Given the description of an element on the screen output the (x, y) to click on. 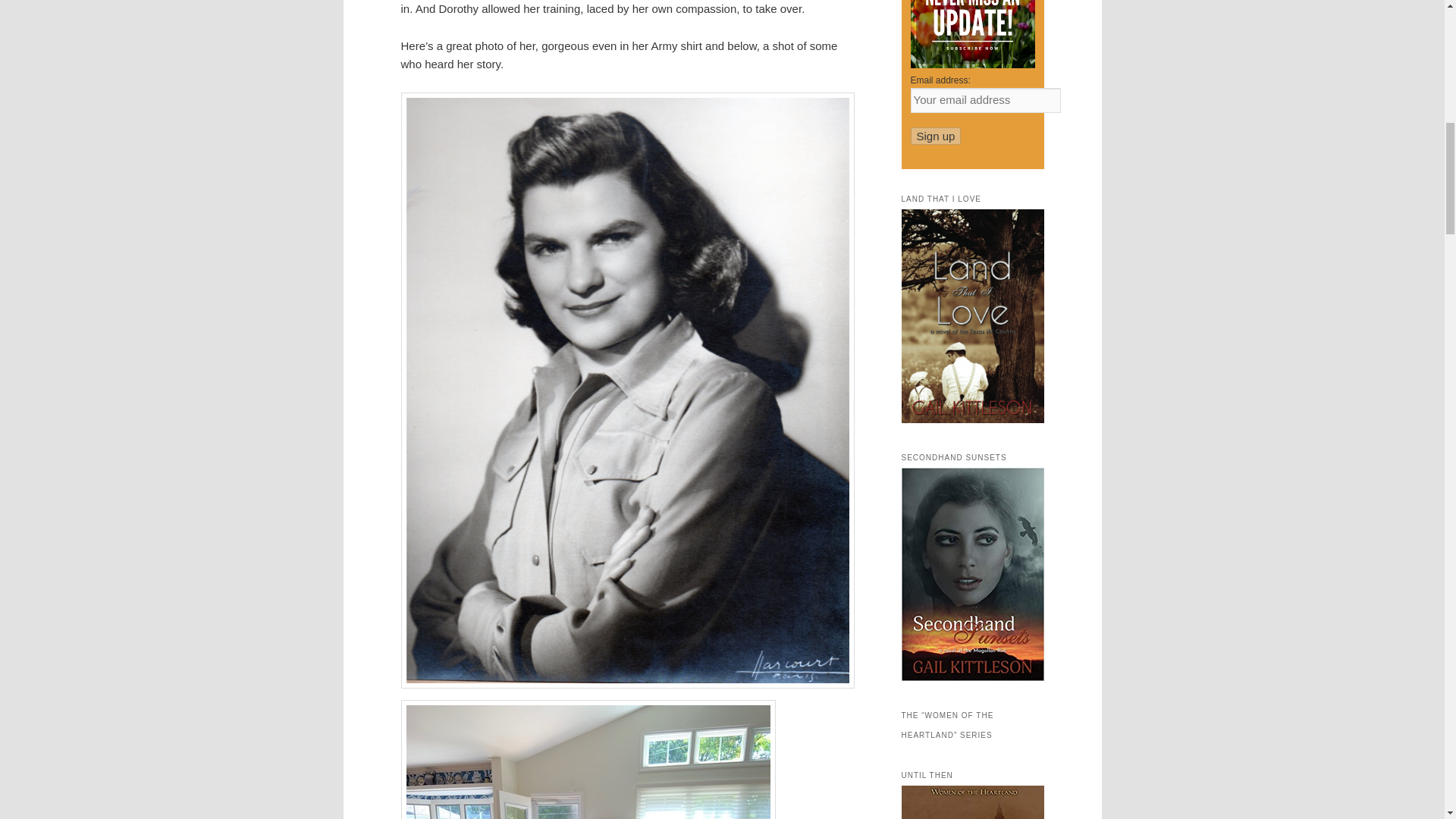
Secondhand Sunsets (972, 677)
Sign up (935, 135)
Sign up (935, 135)
Land That I Love (972, 419)
